Given the description of an element on the screen output the (x, y) to click on. 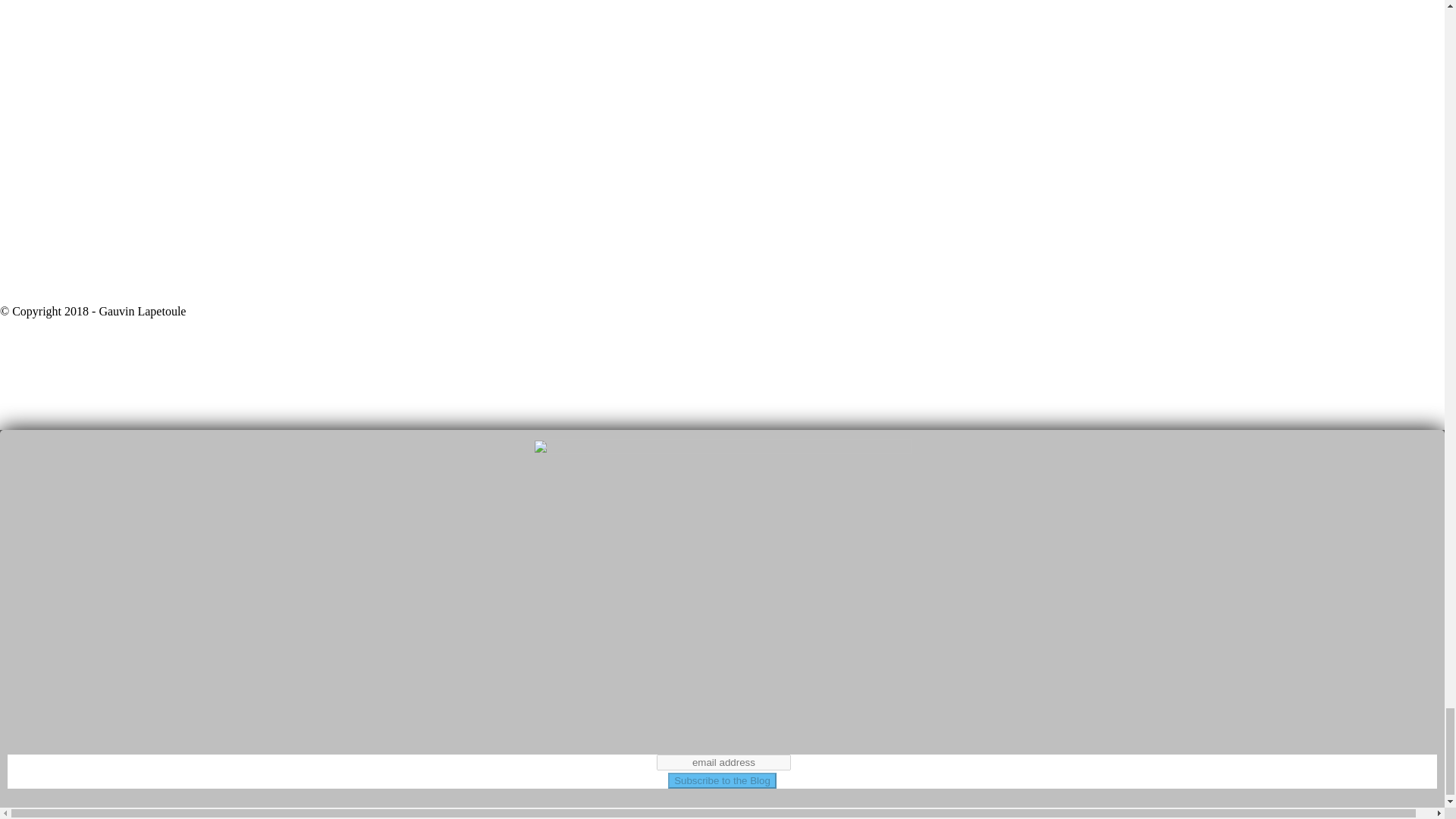
Subscribe to the Blog (722, 780)
